Given the description of an element on the screen output the (x, y) to click on. 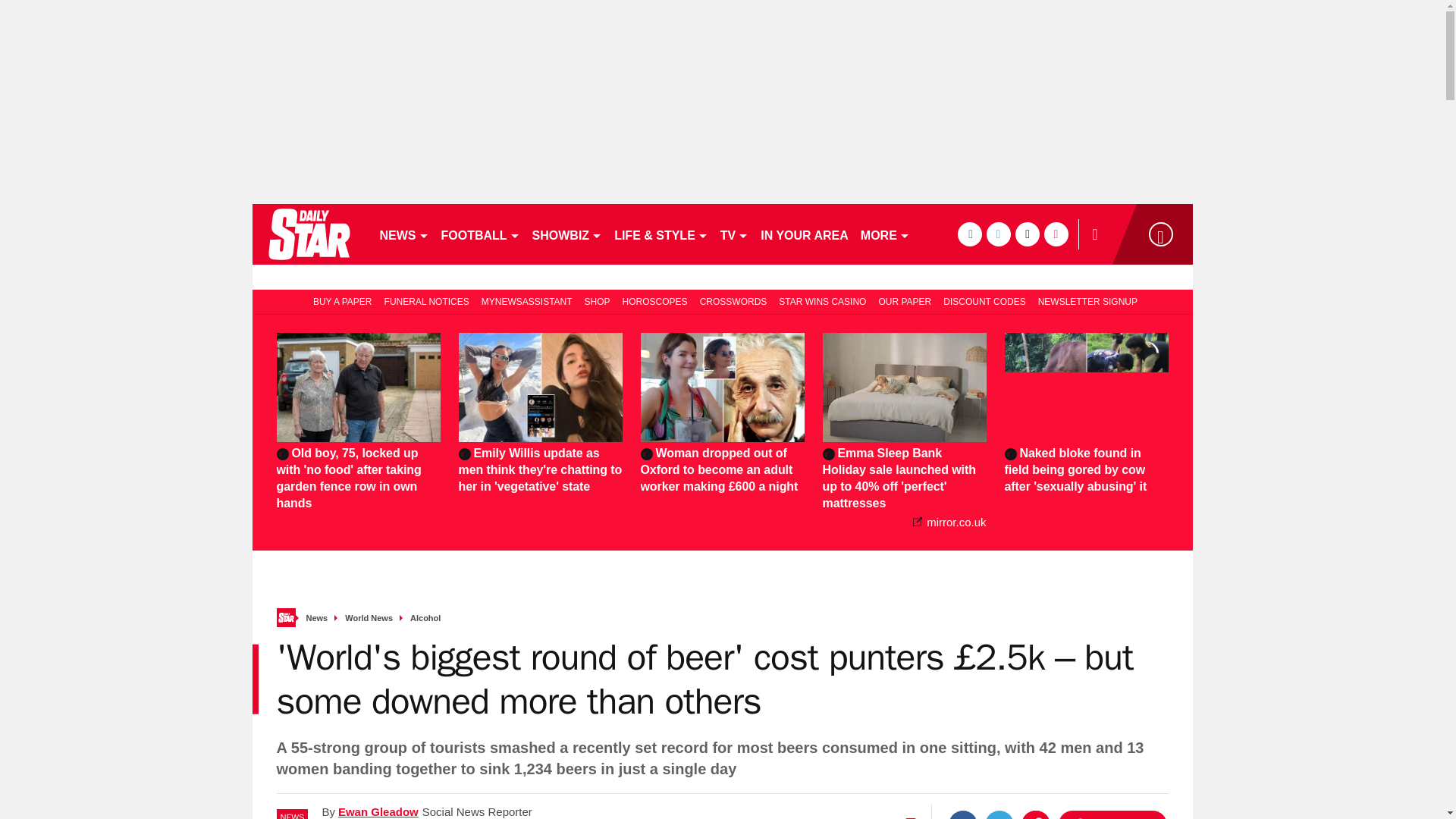
twitter (997, 233)
SHOWBIZ (566, 233)
FOOTBALL (480, 233)
dailystar (308, 233)
facebook (968, 233)
Twitter (999, 814)
tiktok (1026, 233)
NEWS (402, 233)
Facebook (962, 814)
Comments (1112, 814)
